Given the description of an element on the screen output the (x, y) to click on. 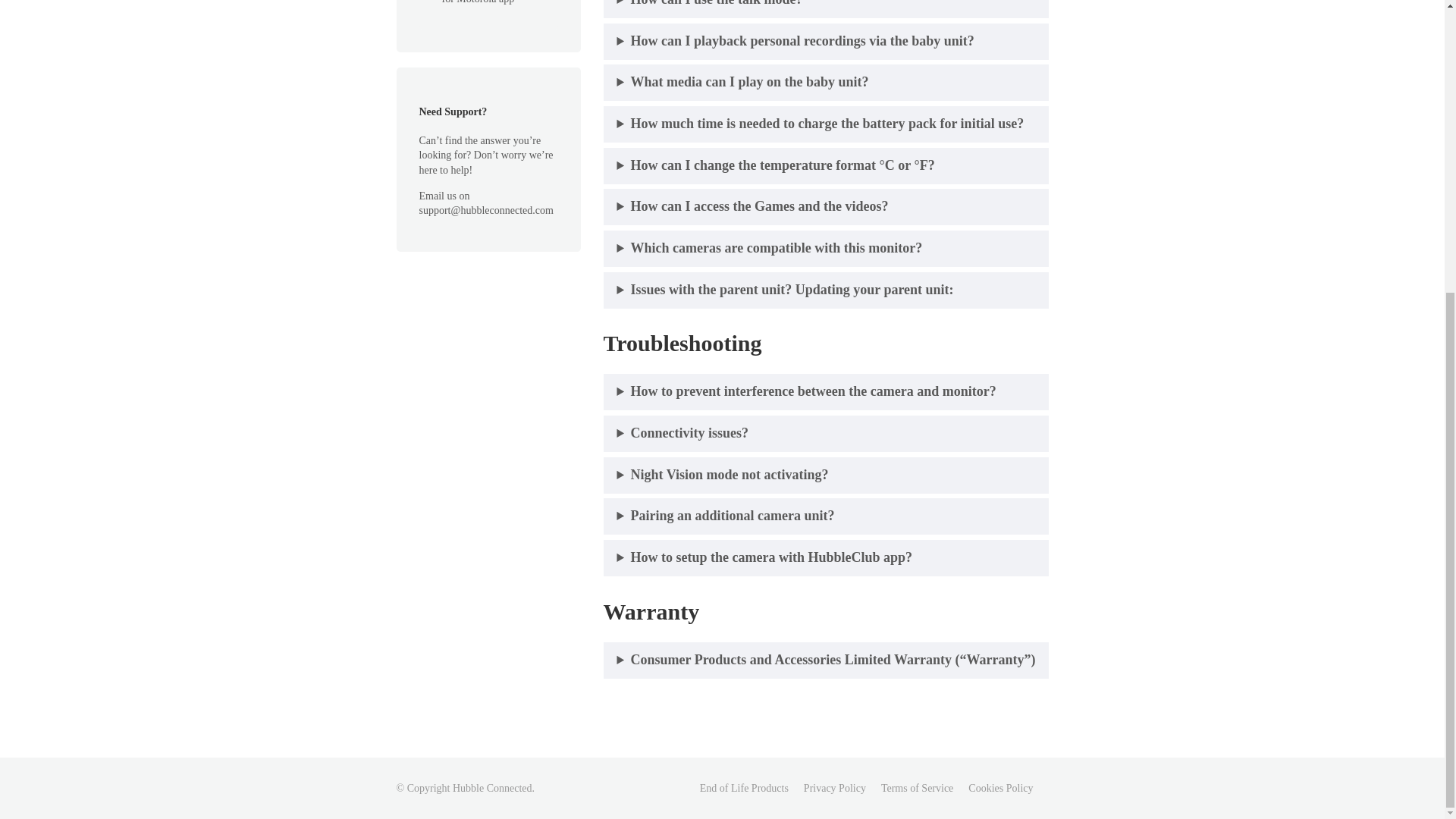
Hubble Connected for Motorola app (487, 7)
End of Life Products (744, 787)
Terms of Service (916, 787)
Privacy Policy (834, 787)
Cookies Policy (1000, 787)
